Given the description of an element on the screen output the (x, y) to click on. 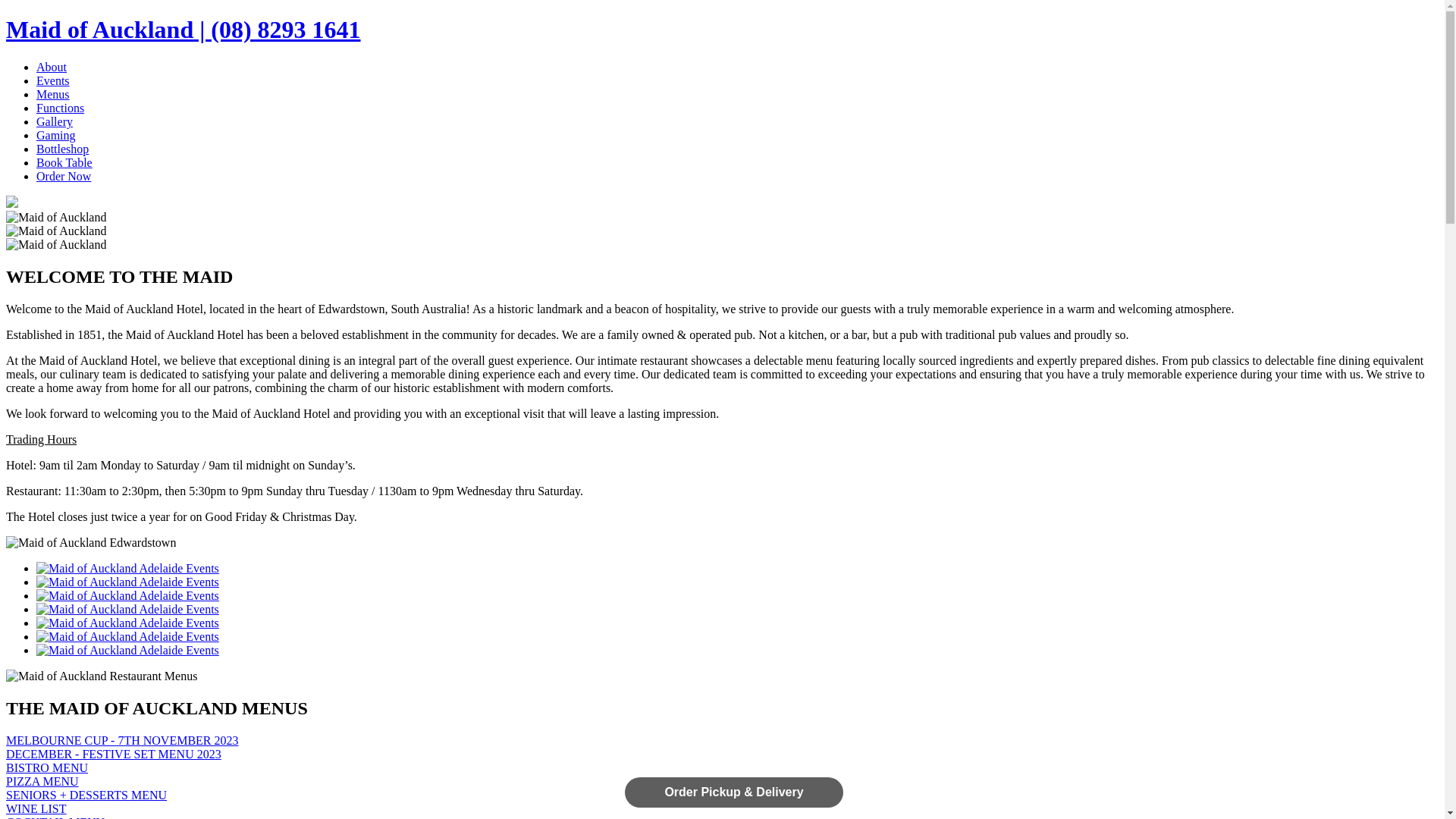
Functions Element type: text (60, 107)
PIZZA MENU Element type: text (722, 781)
Bottleshop Element type: text (62, 148)
Order Now Element type: text (63, 175)
MELBOURNE CUP - 7TH NOVEMBER 2023 Element type: text (722, 740)
Maid of Auckland | (08) 8293 1641 Element type: text (183, 29)
BISTRO MENU Element type: text (722, 768)
Order Pickup & Delivery Element type: text (733, 791)
Gaming Element type: text (55, 134)
Book Table Element type: text (64, 162)
DECEMBER - FESTIVE SET MENU 2023 Element type: text (722, 754)
Gallery Element type: text (54, 121)
SENIORS + DESSERTS MENU Element type: text (722, 795)
Menus Element type: text (52, 93)
WINE LIST Element type: text (722, 808)
Events Element type: text (52, 80)
About Element type: text (51, 66)
